Given the description of an element on the screen output the (x, y) to click on. 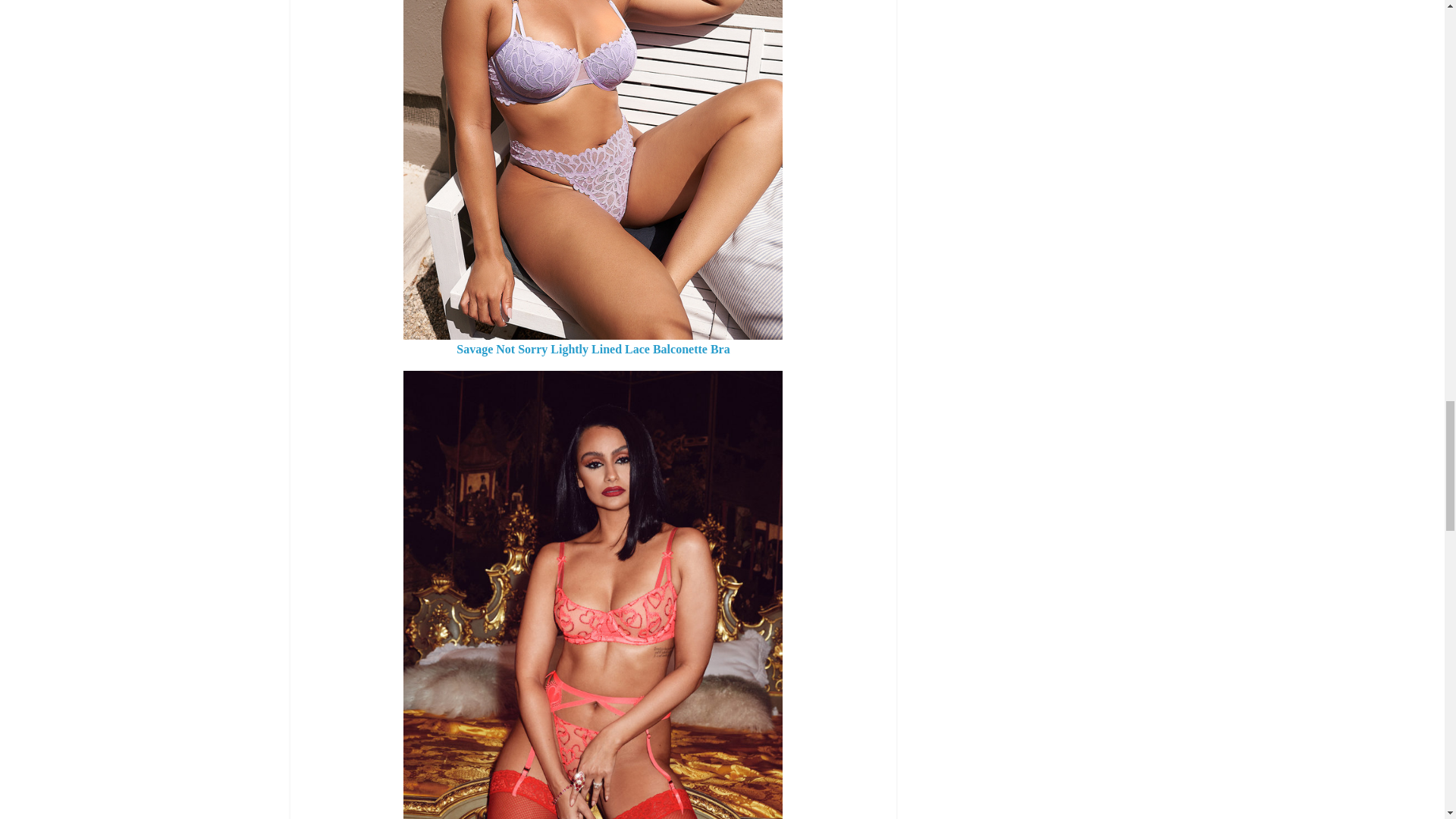
Savage Not Sorry Lightly Lined Lace Balconette Bra (593, 349)
